Given the description of an element on the screen output the (x, y) to click on. 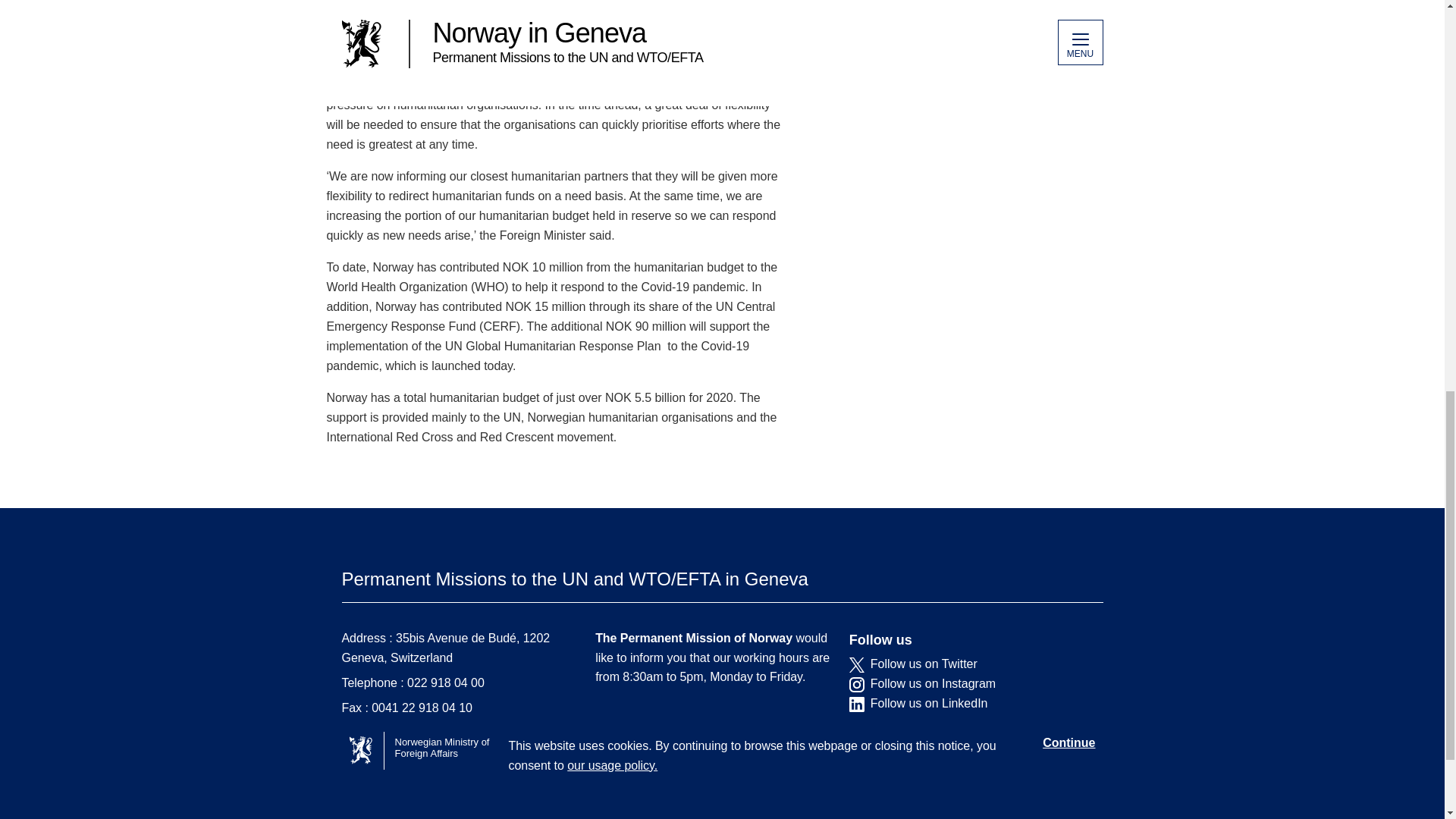
Follow us on Instagram (964, 684)
Follow us on Twitter (964, 663)
Follow us on LinkedIn (964, 703)
